Given the description of an element on the screen output the (x, y) to click on. 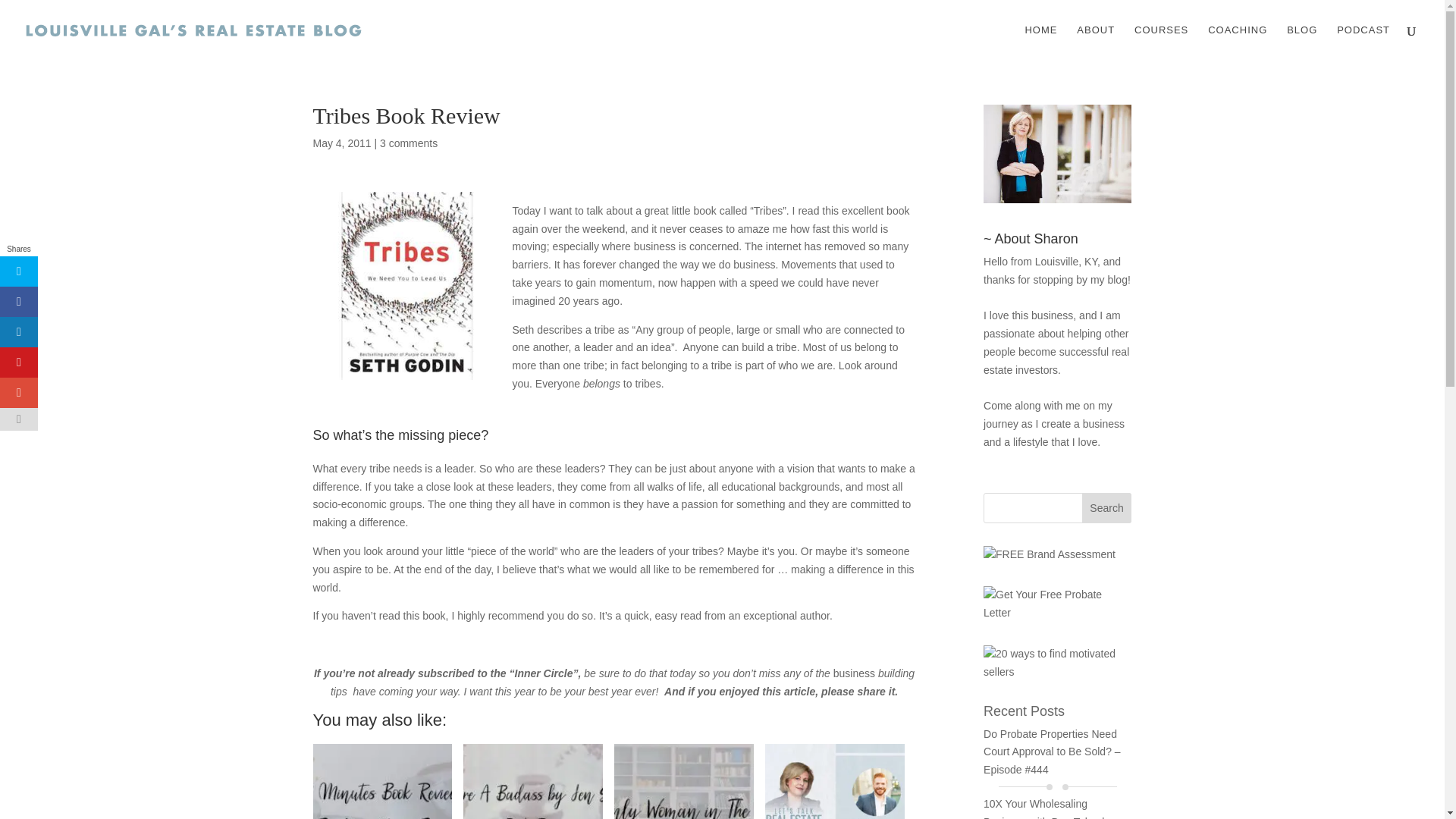
Search (1106, 508)
18 Minutes Book Review - Finding Your Focus (382, 781)
PODCAST (1363, 42)
tribes book cover (406, 285)
COACHING (1237, 42)
HOME (1041, 42)
ABOUT (1096, 42)
COURSES (1161, 42)
You Are A Badass by Jen Sincero - Book Review (532, 781)
Search (1106, 508)
Recent Posts (1024, 711)
18 Minutes Book Review - Finding Your Focus (382, 781)
The Only Woman in The Room (684, 781)
You Are A Badass by Jen Sincero - Book Review (532, 781)
3 comments (409, 143)
